Given the description of an element on the screen output the (x, y) to click on. 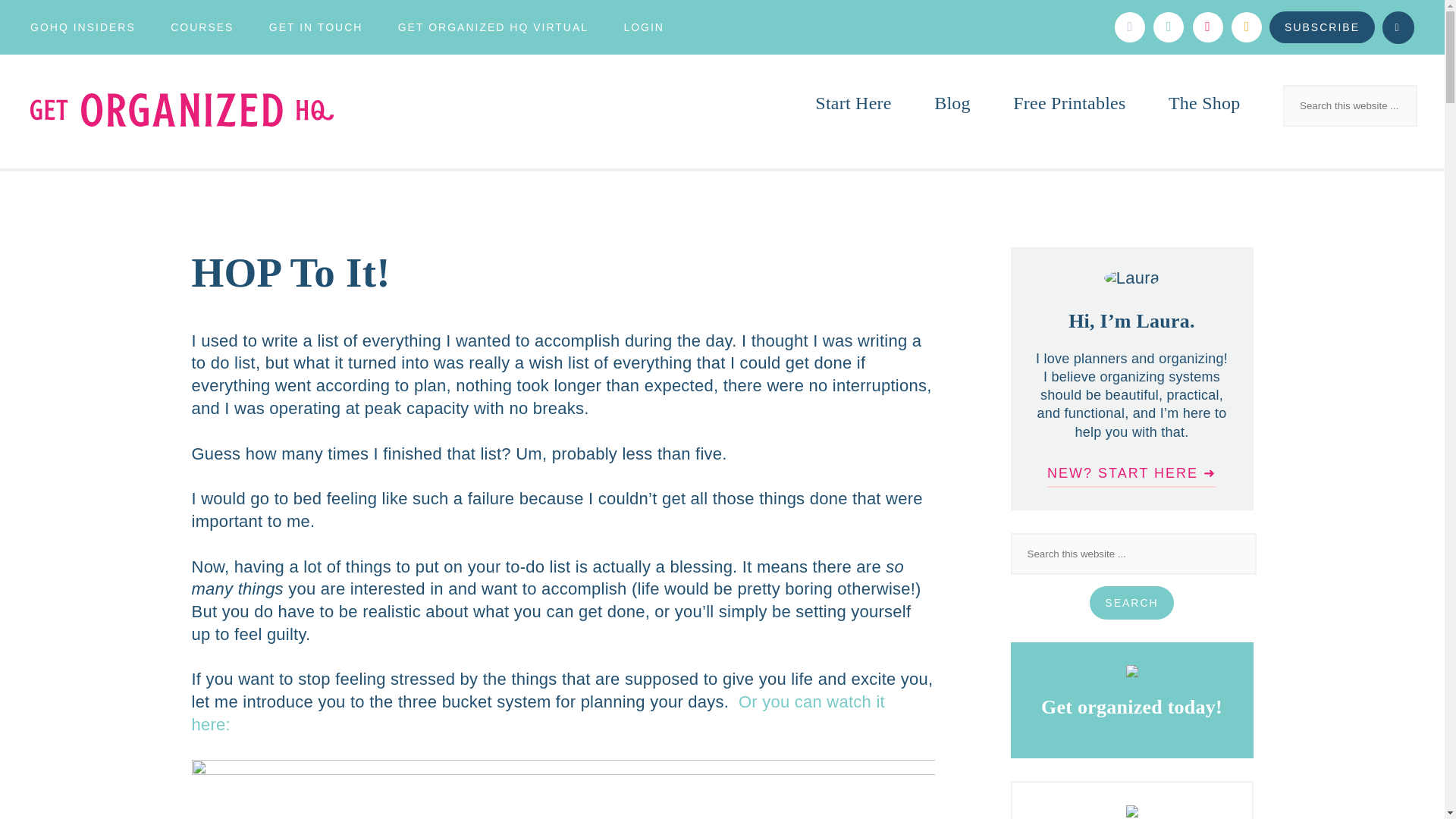
Free Printables (1069, 103)
LOGIN (643, 27)
Search (41, 16)
COURSES (201, 27)
Start Here (853, 103)
Search (1131, 602)
GOHQ INSIDERS (82, 27)
GET IN TOUCH (315, 27)
GET ORGANIZED HQ VIRTUAL (492, 27)
The Shop (1204, 103)
